Given the description of an element on the screen output the (x, y) to click on. 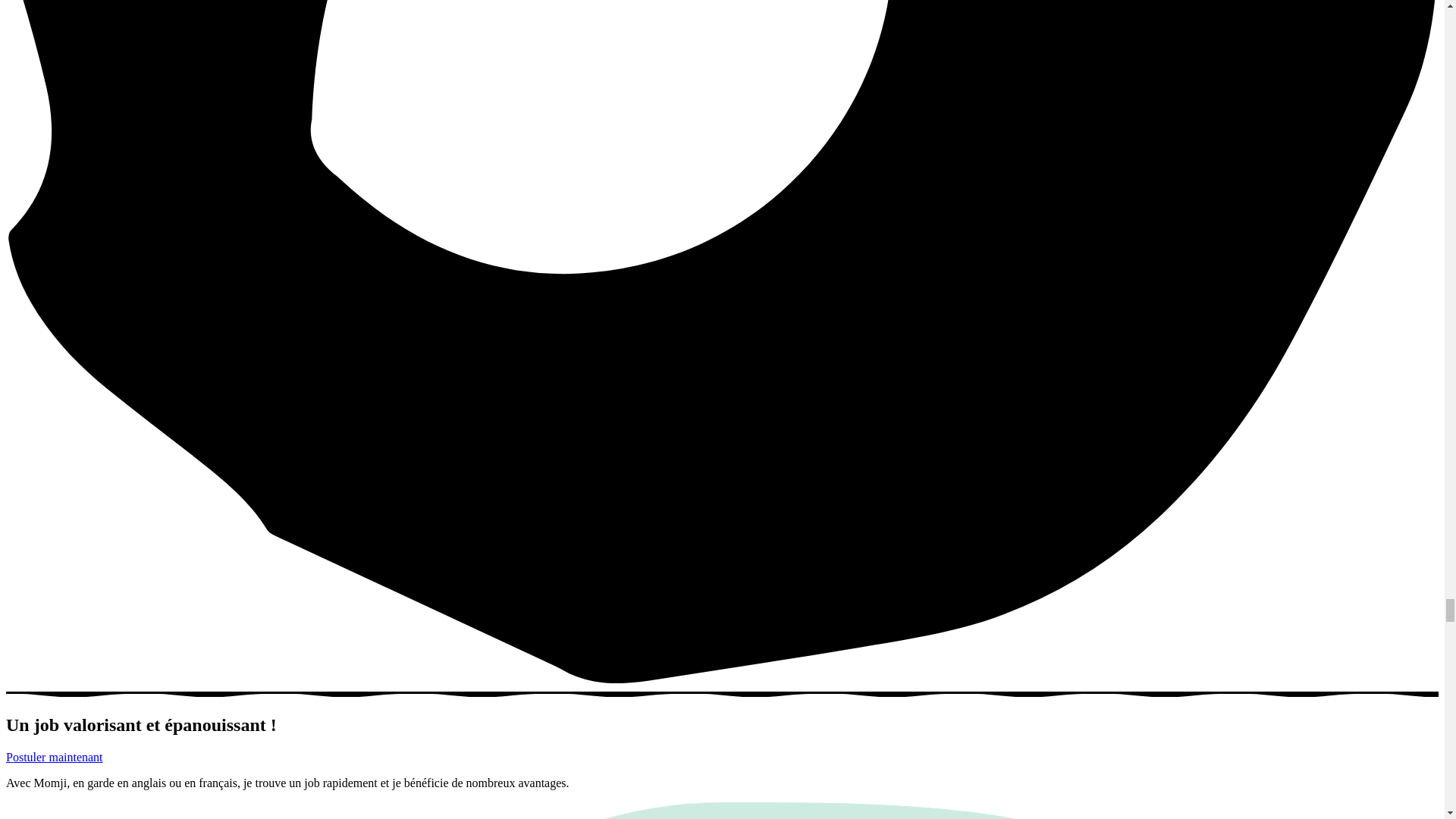
Postuler maintenant (54, 757)
